Given the description of an element on the screen output the (x, y) to click on. 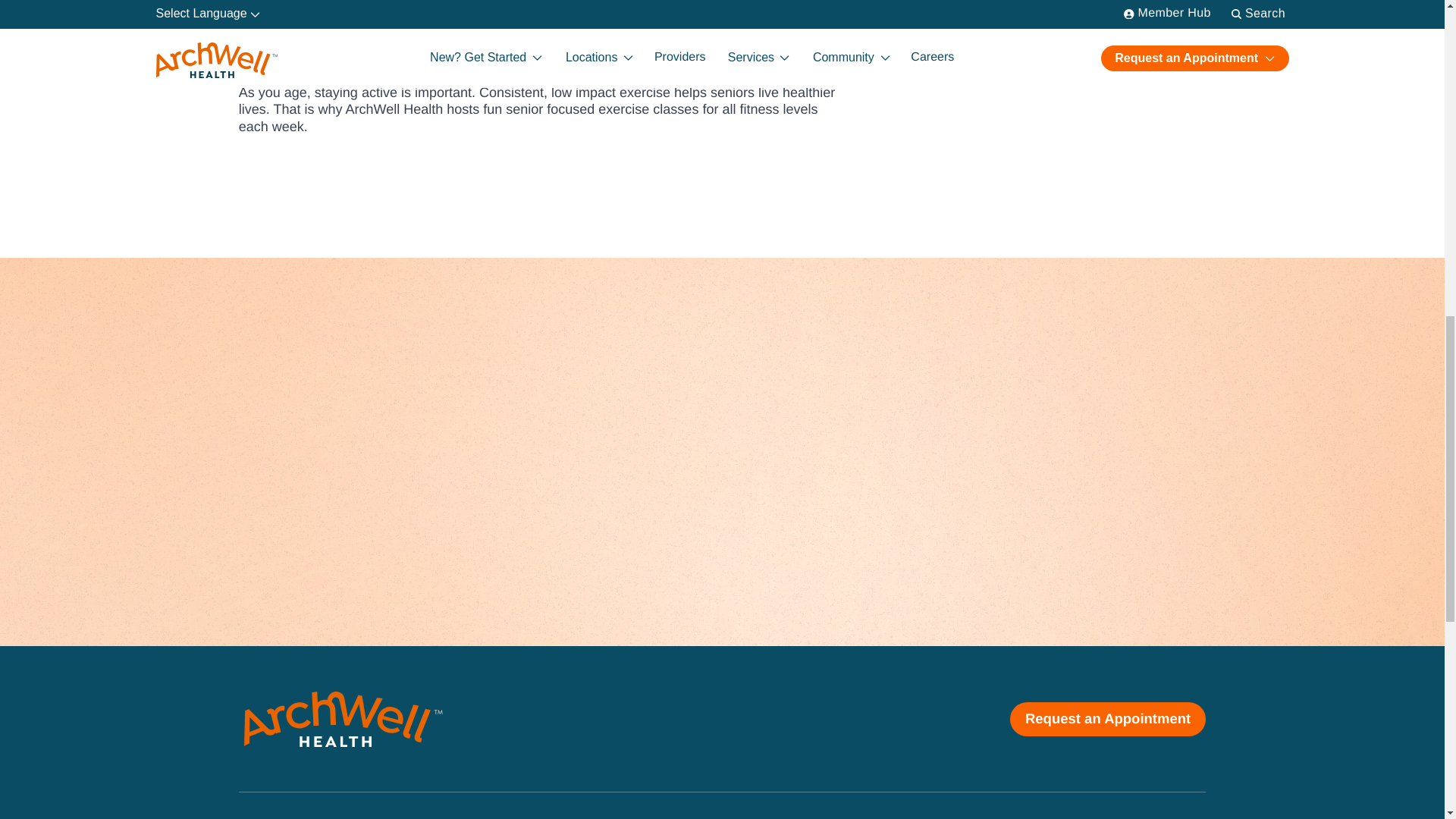
ArchWell Health Home page (343, 719)
